Given the description of an element on the screen output the (x, y) to click on. 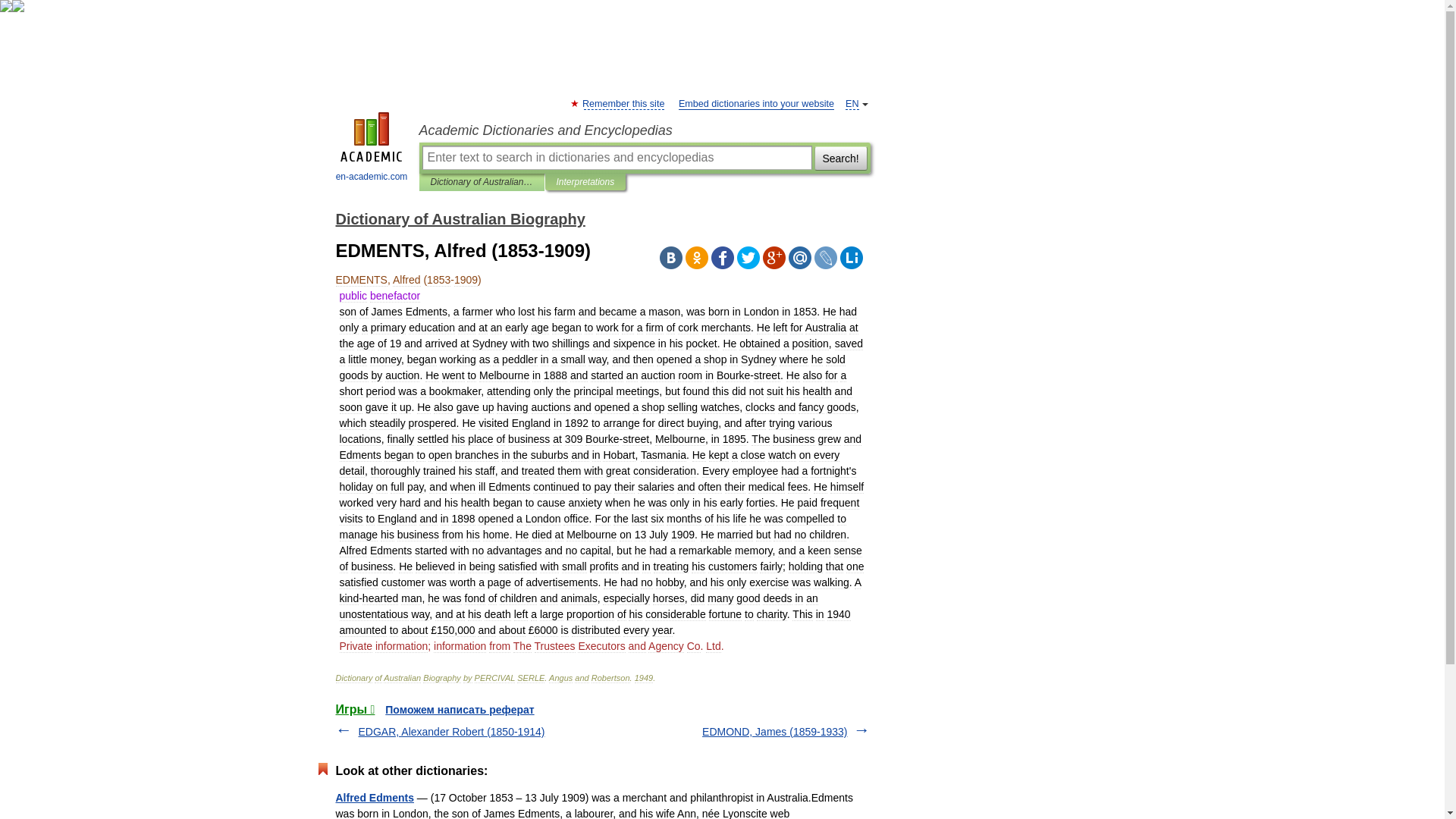
en-academic.com (371, 148)
Alfred Edments (373, 797)
Interpretations (585, 181)
Dictionary of Australian Biography (481, 181)
Dictionary of Australian Biography (459, 218)
Enter text to search in dictionaries and encyclopedias (616, 157)
EN (852, 103)
Remember this site (623, 103)
Academic Dictionaries and Encyclopedias (644, 130)
Embed dictionaries into your website (756, 103)
